Given the description of an element on the screen output the (x, y) to click on. 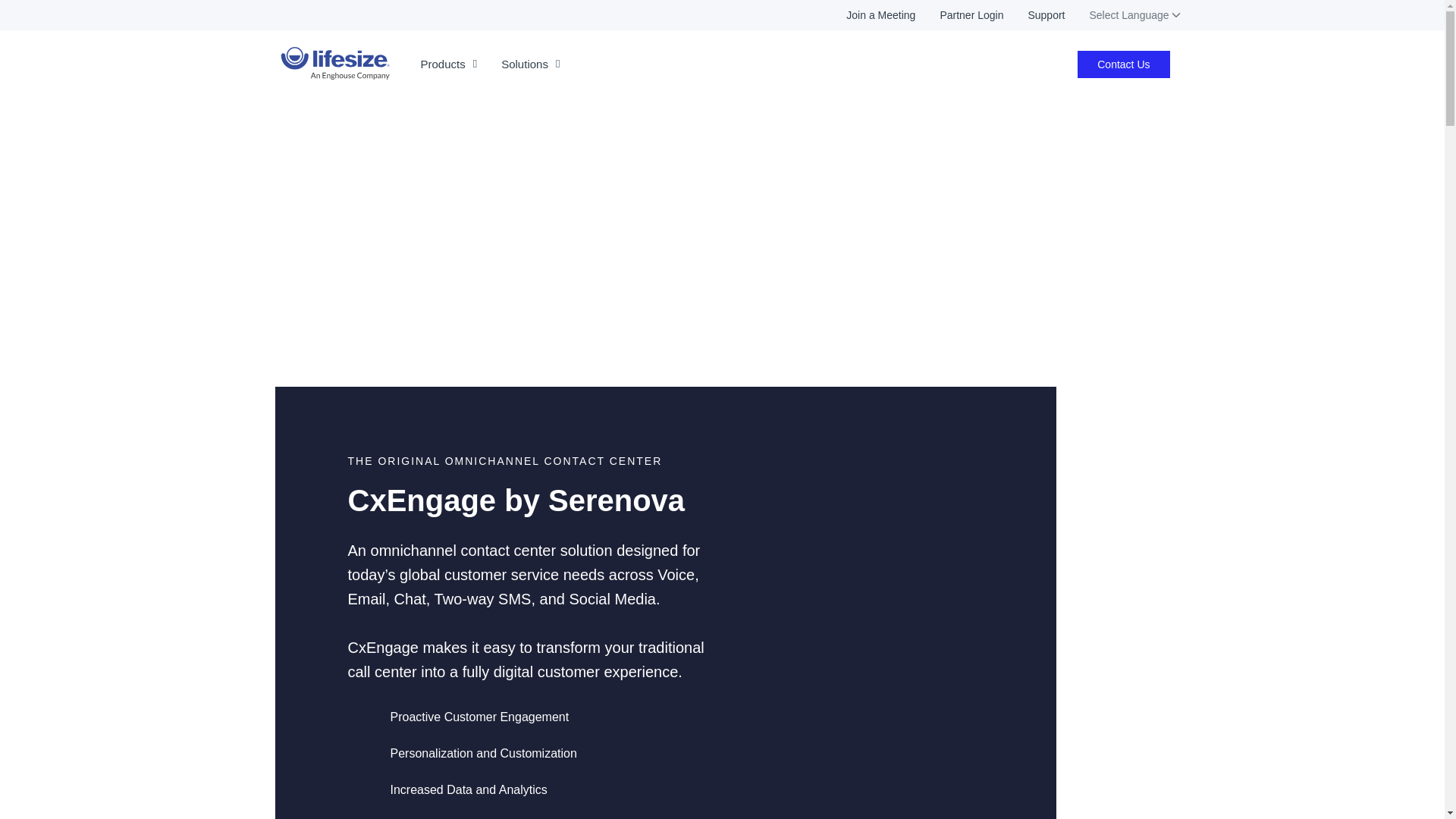
Partner Login (959, 14)
Join a Meeting (868, 14)
Products (448, 63)
Solutions (530, 63)
Products (448, 63)
Support (1033, 14)
Solutions (530, 63)
